Given the description of an element on the screen output the (x, y) to click on. 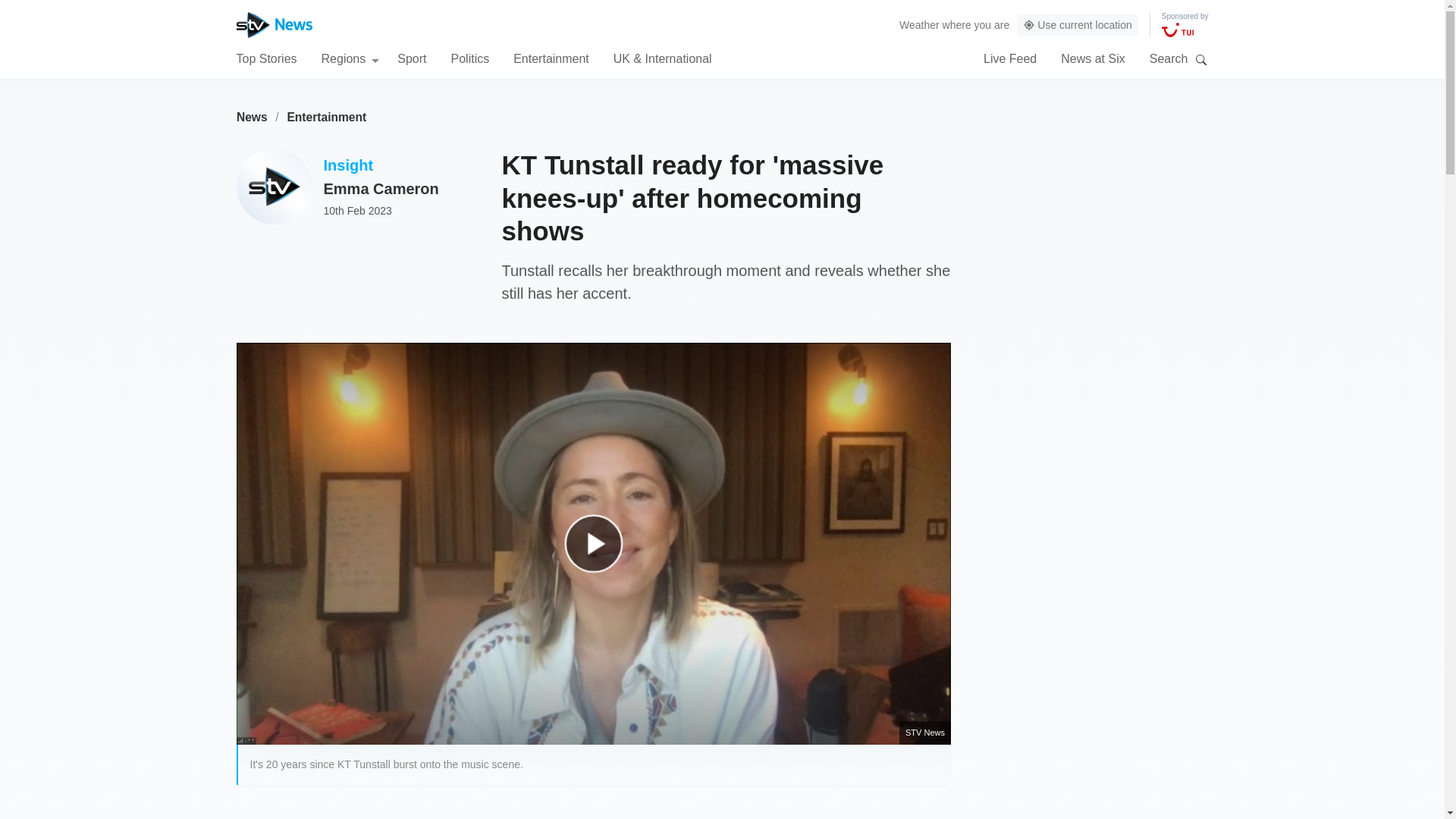
Entertainment (326, 116)
Use current location (1077, 25)
Live Feed (1010, 57)
Regions (350, 57)
Search (1201, 59)
News at Six (1092, 57)
Emma Cameron (380, 188)
News (252, 116)
Politics (469, 57)
Entertainment (551, 57)
